Given the description of an element on the screen output the (x, y) to click on. 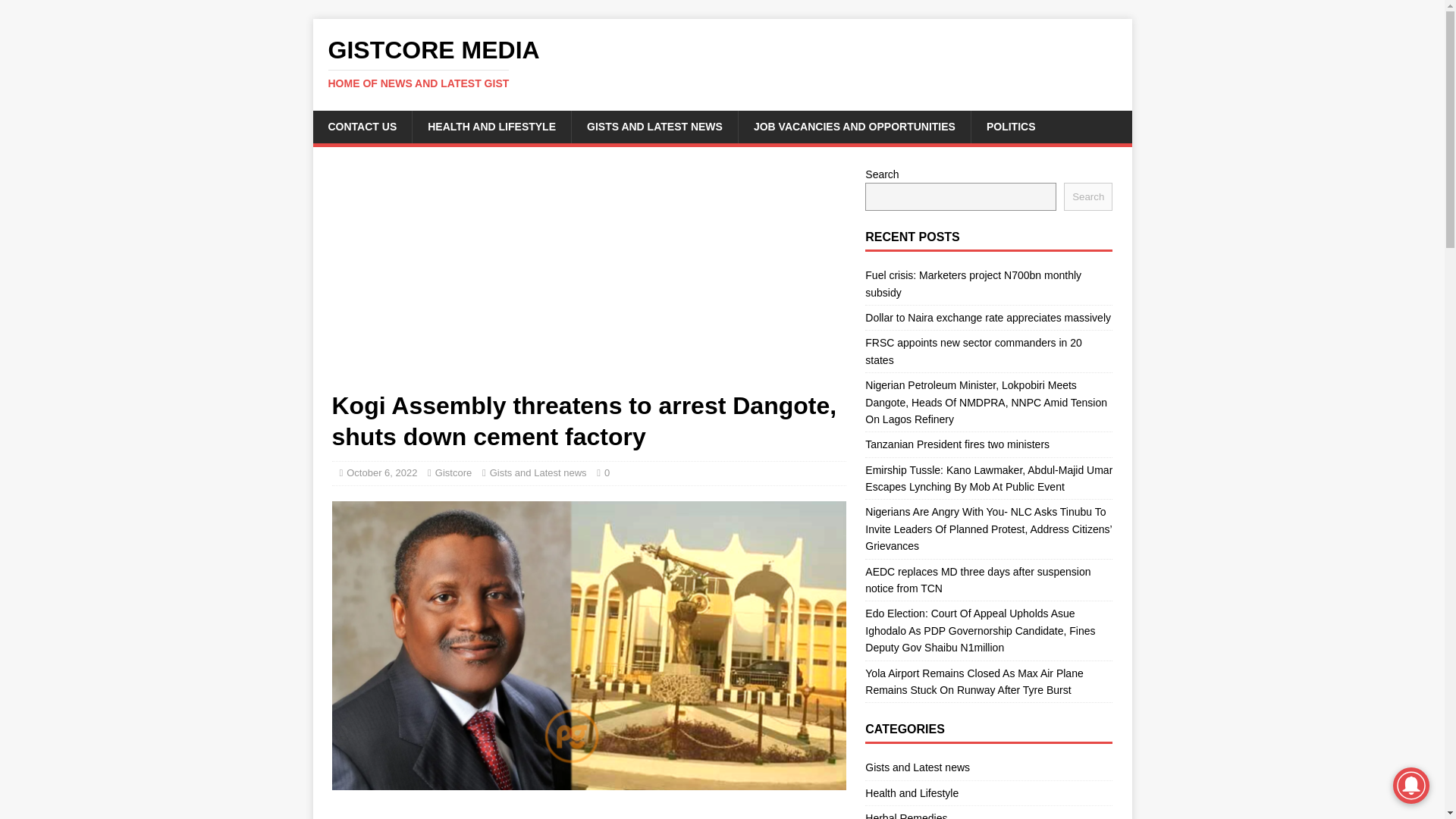
Advertisement (588, 812)
FRSC appoints new sector commanders in 20 states (972, 350)
Advertisement (588, 277)
CONTACT US (362, 126)
JOB VACANCIES AND OPPORTUNITIES (854, 126)
GISTS AND LATEST NEWS (654, 126)
HEALTH AND LIFESTYLE (491, 126)
POLITICS (1011, 126)
Search (1088, 196)
Fuel crisis: Marketers project N700bn monthly subsidy (972, 283)
Gistcore  media (721, 63)
Gistcore (453, 472)
Gists and Latest news (537, 472)
